Given the description of an element on the screen output the (x, y) to click on. 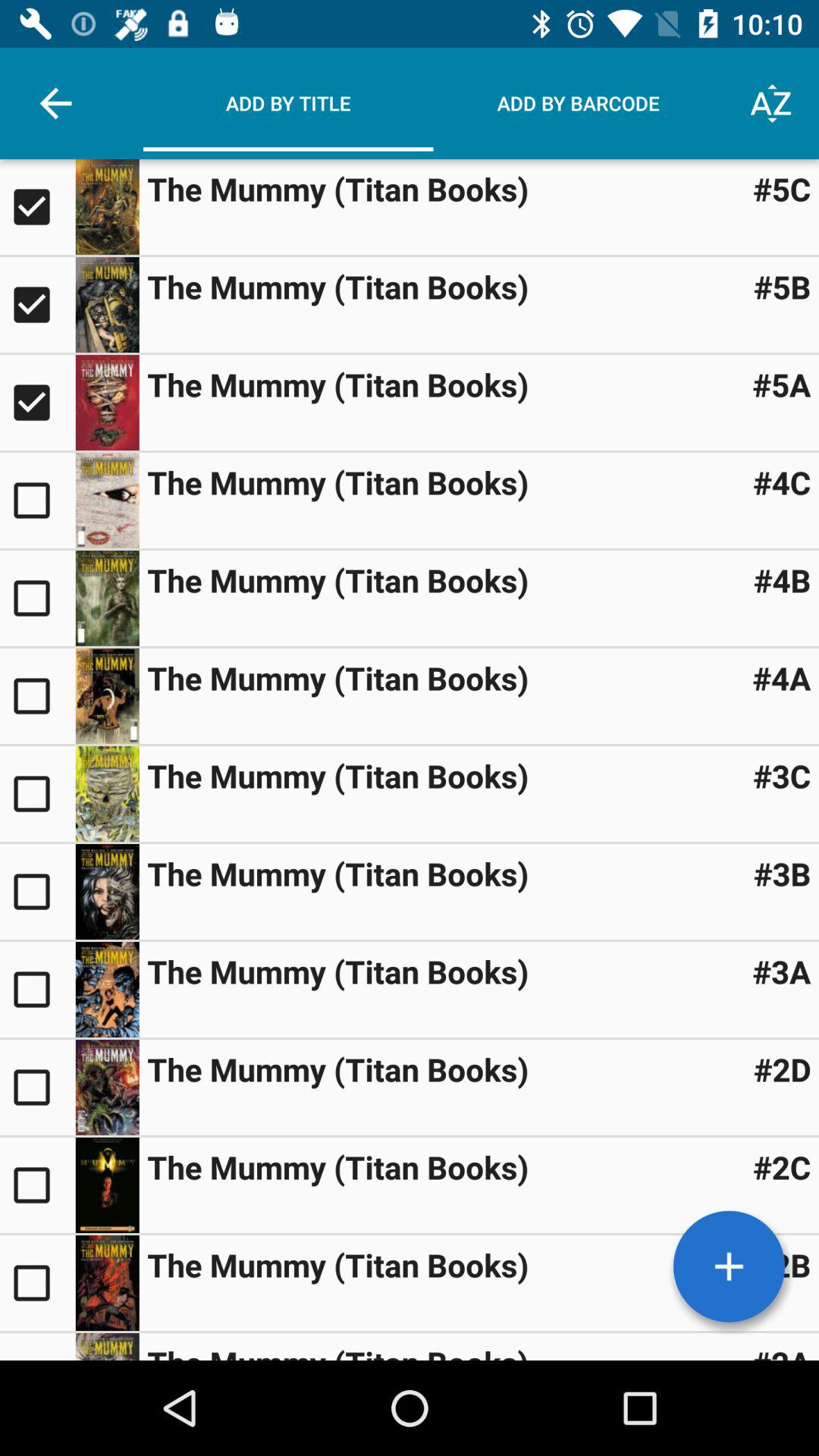
go to book information (107, 695)
